Given the description of an element on the screen output the (x, y) to click on. 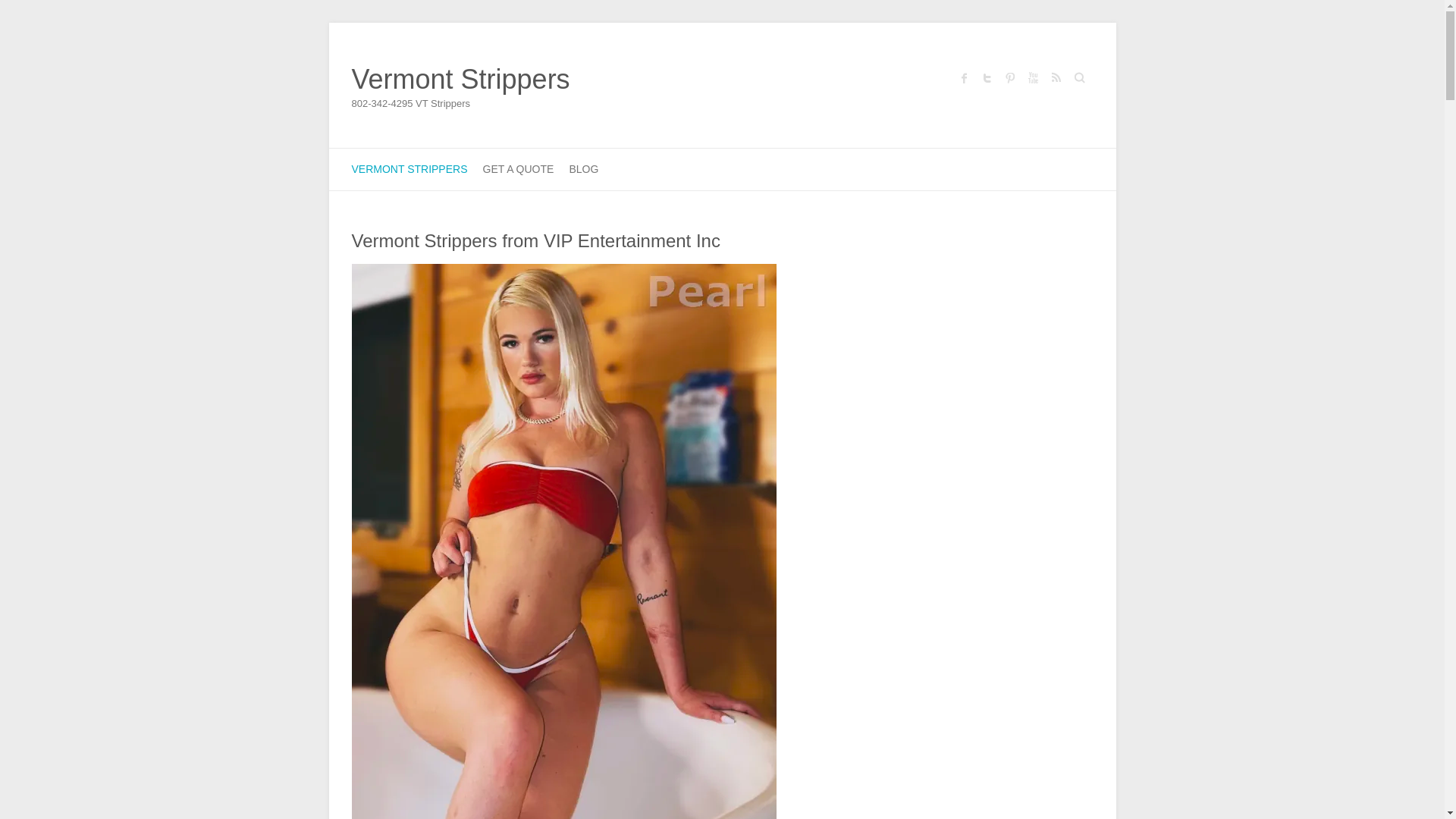
VERMONT STRIPPERS (409, 169)
Vermont Strippers on Pinterest (1008, 77)
Vermont Strippers on RSS (1054, 77)
Vermont Strippers Youtube (1031, 77)
Vermont Strippers on Youtube (1031, 77)
Vermont Strippers on Facebook (963, 77)
Vermont Strippers (461, 79)
GET A QUOTE (517, 169)
Vermont Strippers Twitter (986, 77)
Vermont Strippers on Twitter (986, 77)
Vermont Strippers Pinterest (1008, 77)
Vermont Strippers RSS (1054, 77)
Vermont Strippers Facebook (963, 77)
Vermont Strippers (461, 79)
